Given the description of an element on the screen output the (x, y) to click on. 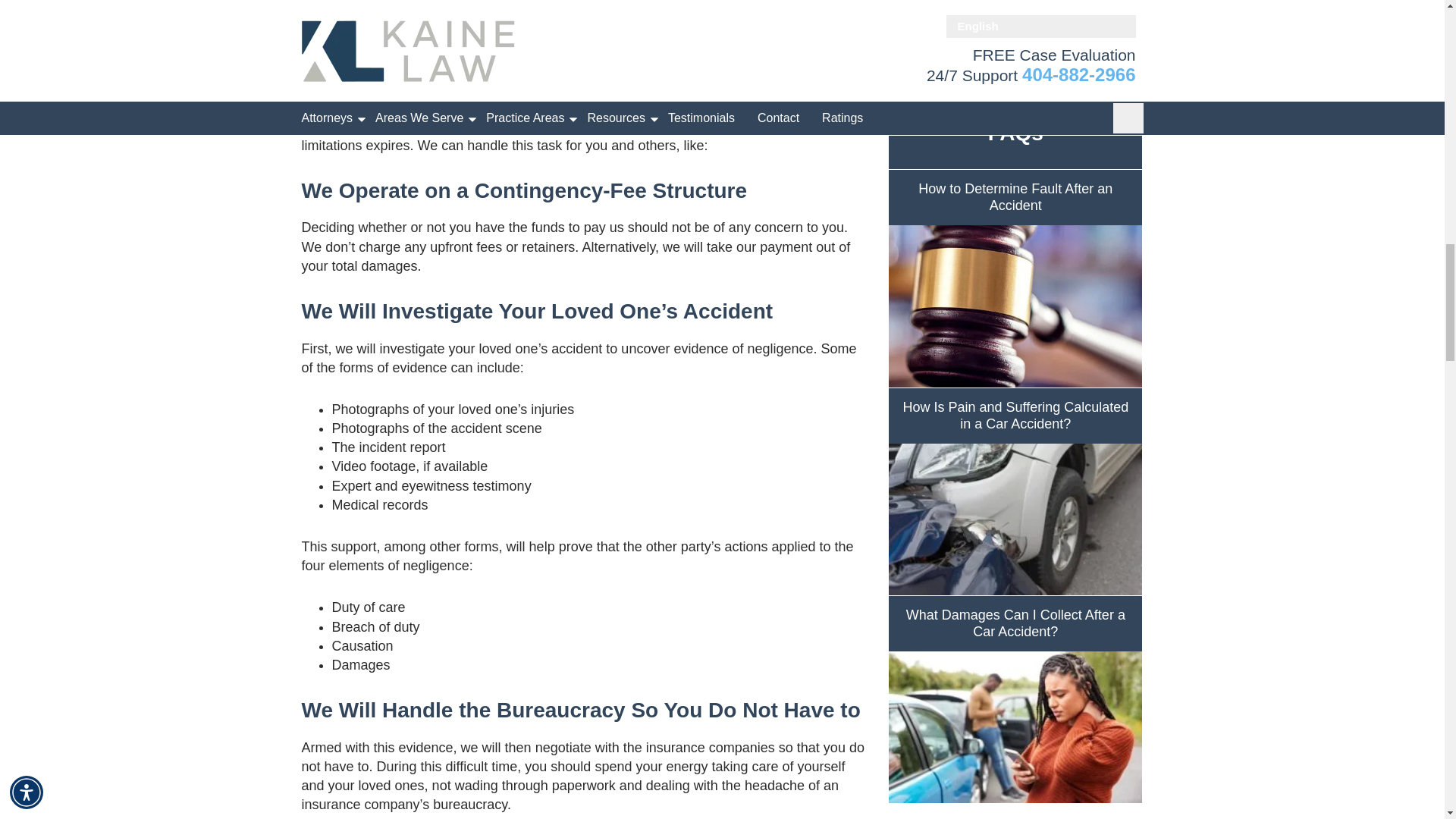
What Damages Can I Collect After a Car Accident? (1014, 699)
How to Determine Fault After an Accident (1014, 278)
How Is Pain and Suffering Calculated in a Car Accident? (1014, 491)
